Given the description of an element on the screen output the (x, y) to click on. 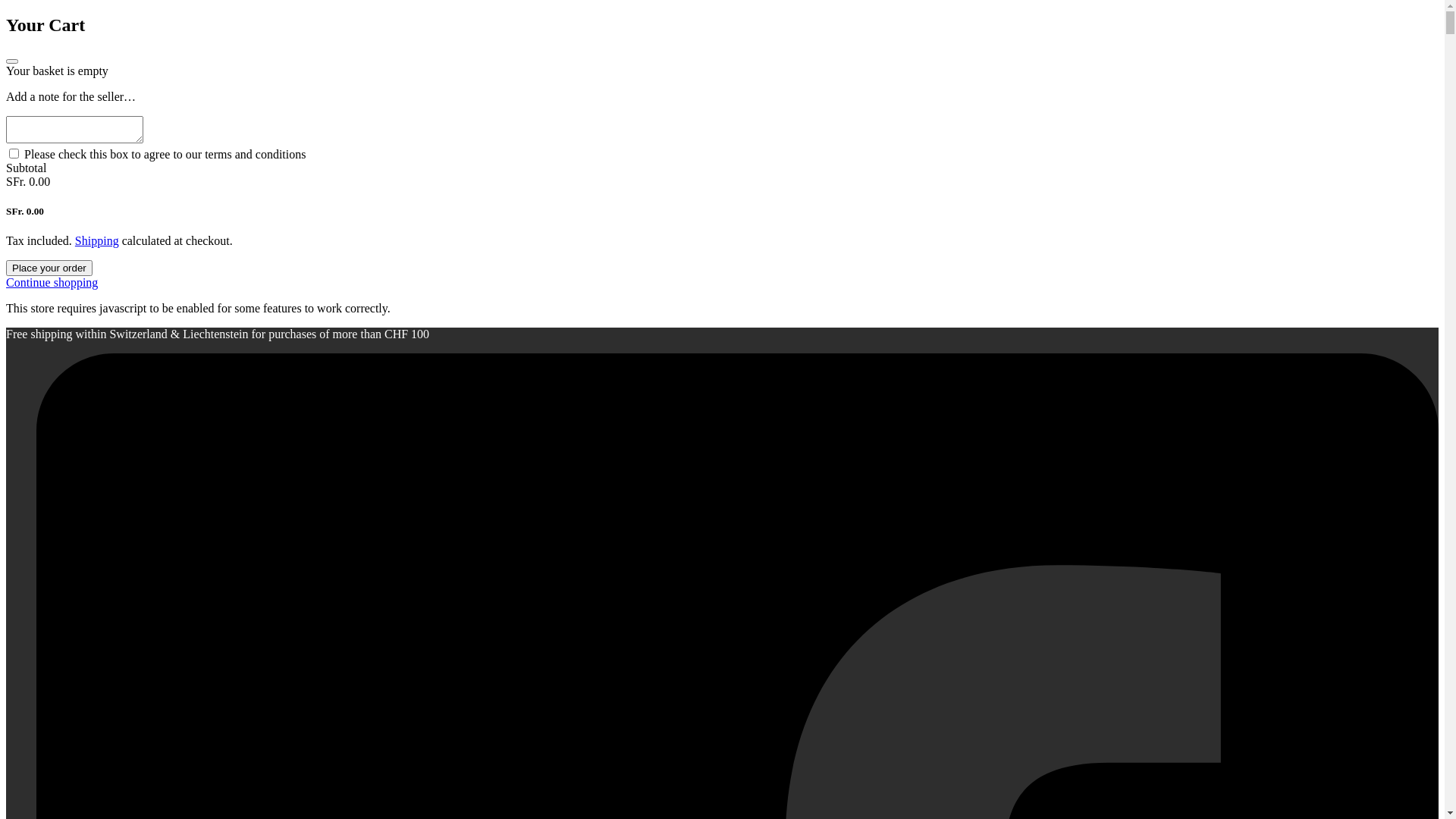
Continue shopping Element type: text (51, 282)
Place your order Element type: text (49, 268)
Shipping Element type: text (97, 240)
